Given the description of an element on the screen output the (x, y) to click on. 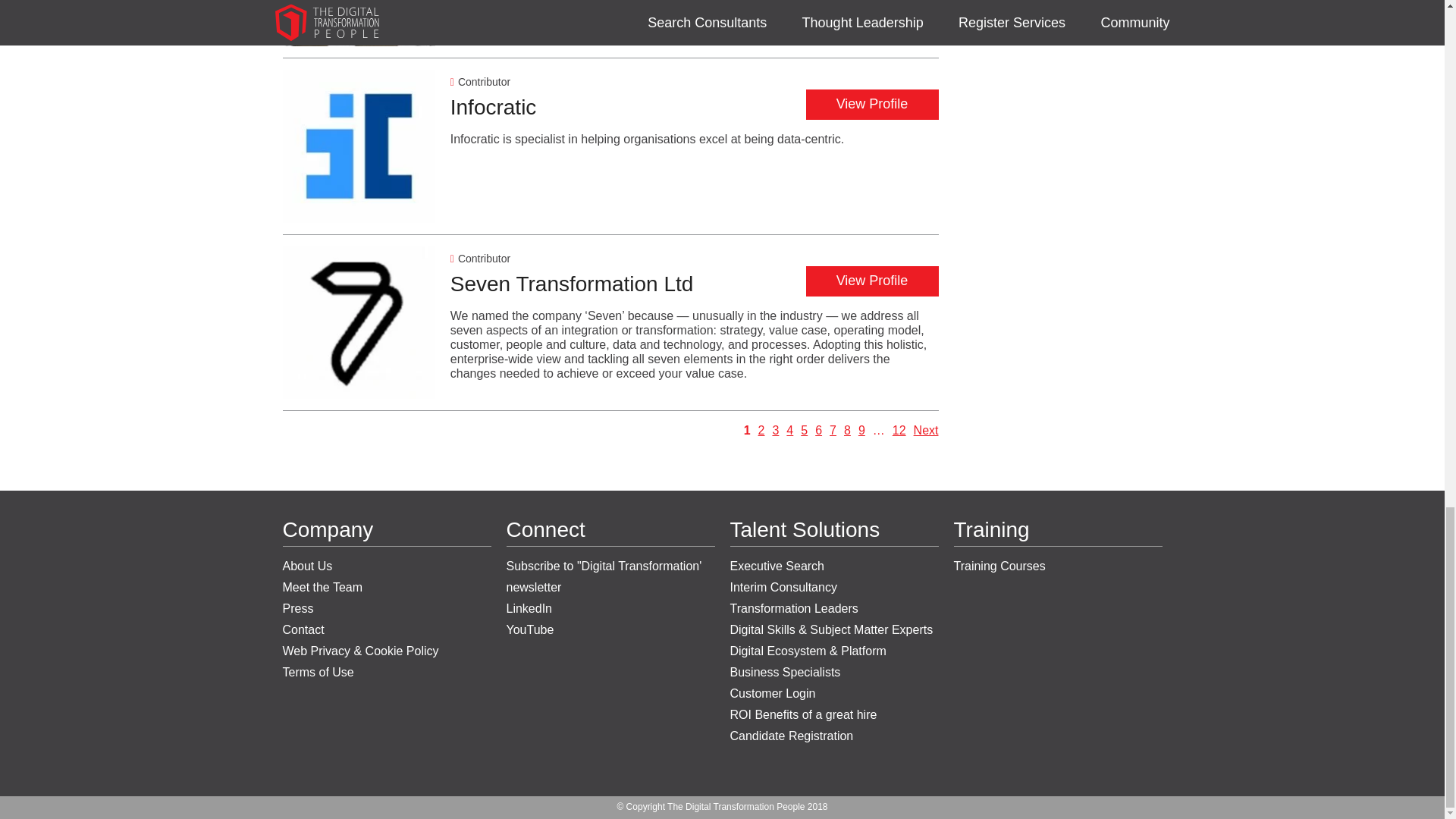
Footer Navigation - Training (1057, 566)
Footer Navigation - Company (386, 619)
Footer Navigation - Talent Solutions (833, 651)
Footer Navigation - Connect (610, 598)
